Given the description of an element on the screen output the (x, y) to click on. 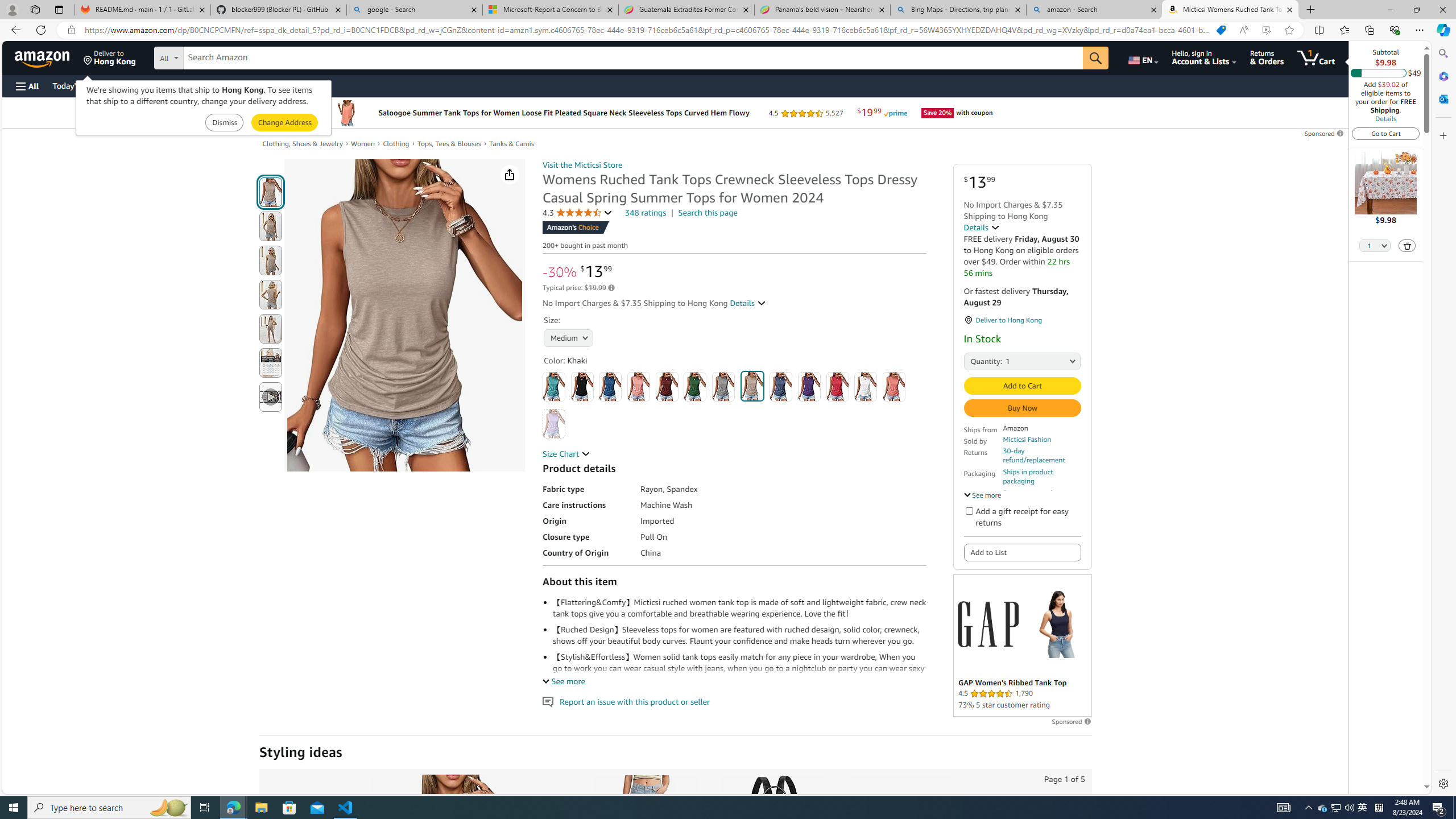
Registry (205, 85)
Clothing, Shoes & Jewelry (302, 144)
Choose a language for shopping. (1142, 57)
Black (581, 386)
Red (837, 386)
Blue (610, 386)
Micticsi Fashion (1027, 438)
Logo (987, 623)
